Given the description of an element on the screen output the (x, y) to click on. 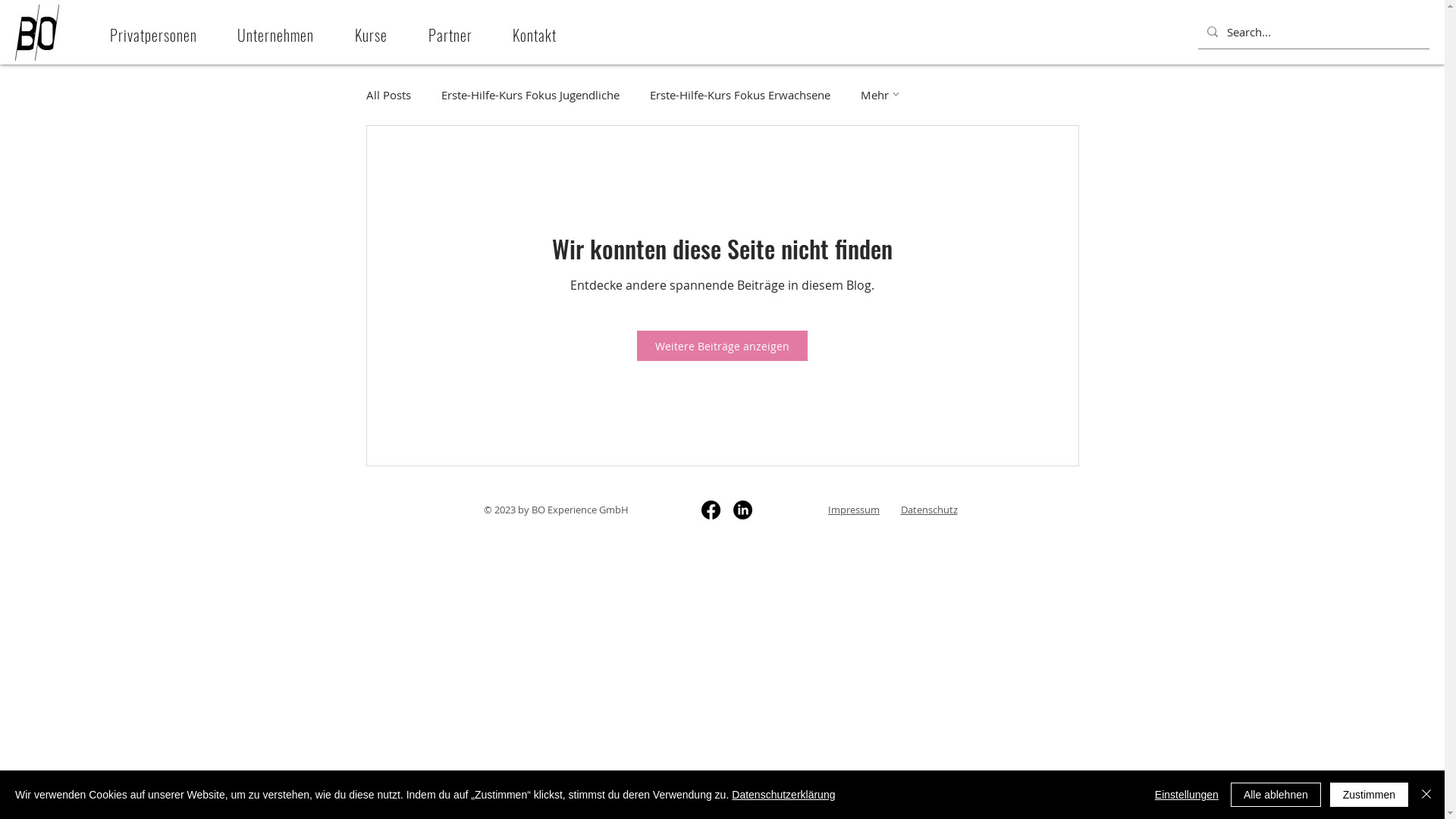
Privatpersonen Element type: text (153, 34)
Partner Element type: text (450, 34)
Erste-Hilfe-Kurs Fokus Erwachsene Element type: text (739, 94)
Kurse Element type: text (370, 34)
Kontakt Element type: text (534, 34)
Impressum Element type: text (853, 509)
All Posts Element type: text (387, 94)
Datenschutz Element type: text (928, 509)
Alle ablehnen Element type: text (1275, 794)
Zustimmen Element type: text (1369, 794)
Erste-Hilfe-Kurs Fokus Jugendliche Element type: text (530, 94)
Unternehmen Element type: text (276, 34)
